Given the description of an element on the screen output the (x, y) to click on. 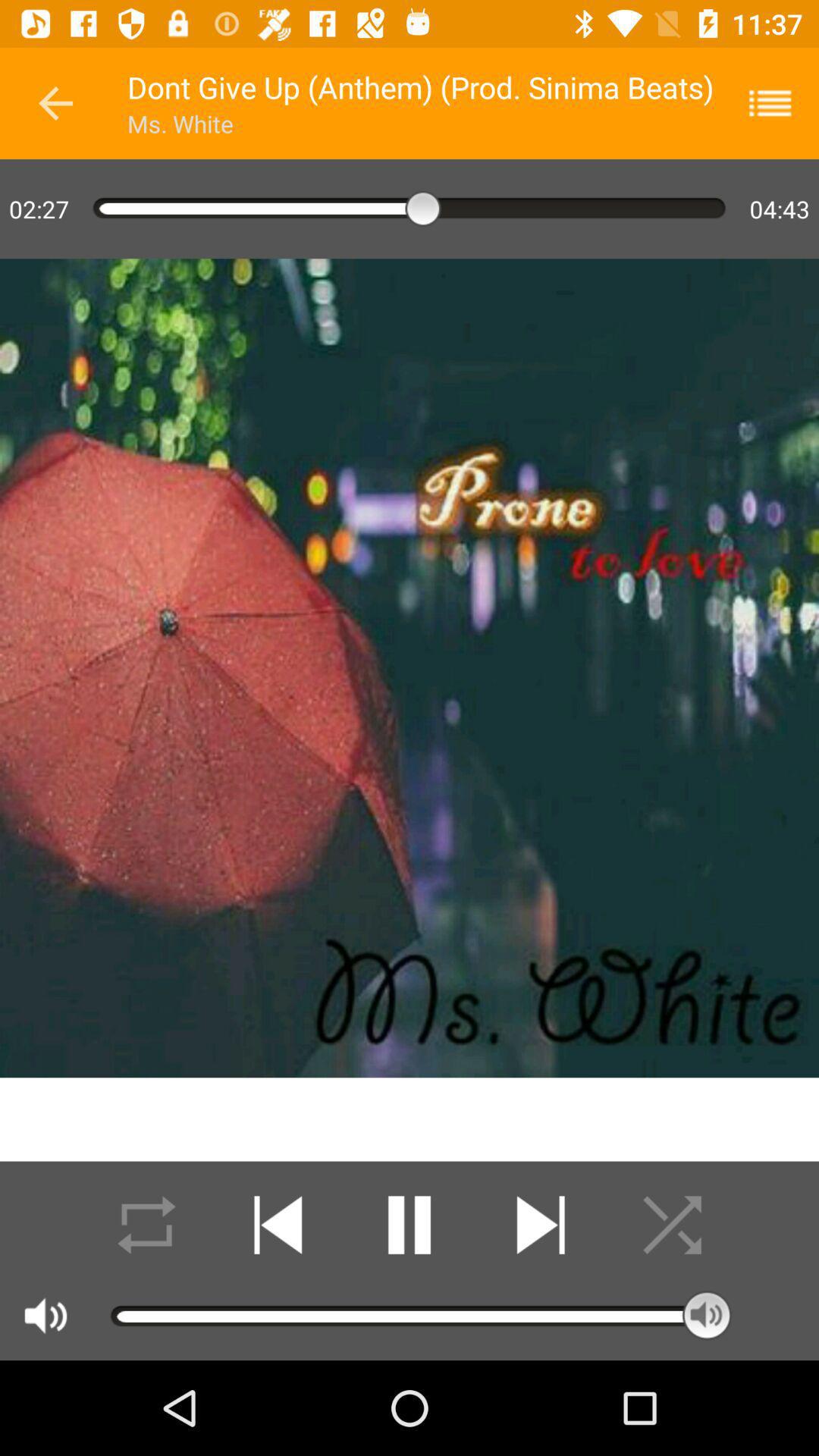
repeat the playlist (146, 1224)
